Given the description of an element on the screen output the (x, y) to click on. 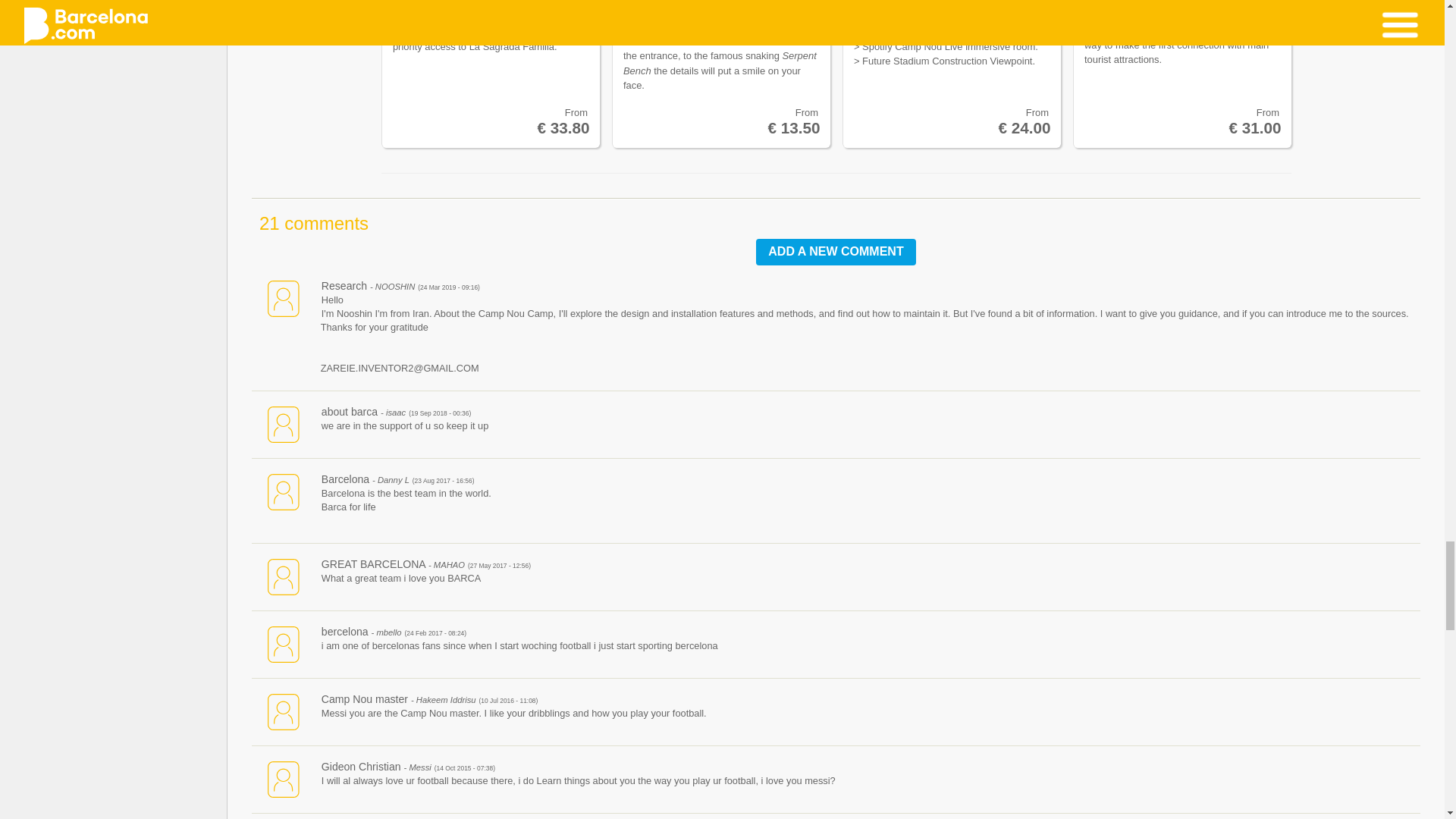
Add a new comment (835, 251)
Add a new comment (835, 251)
